Given the description of an element on the screen output the (x, y) to click on. 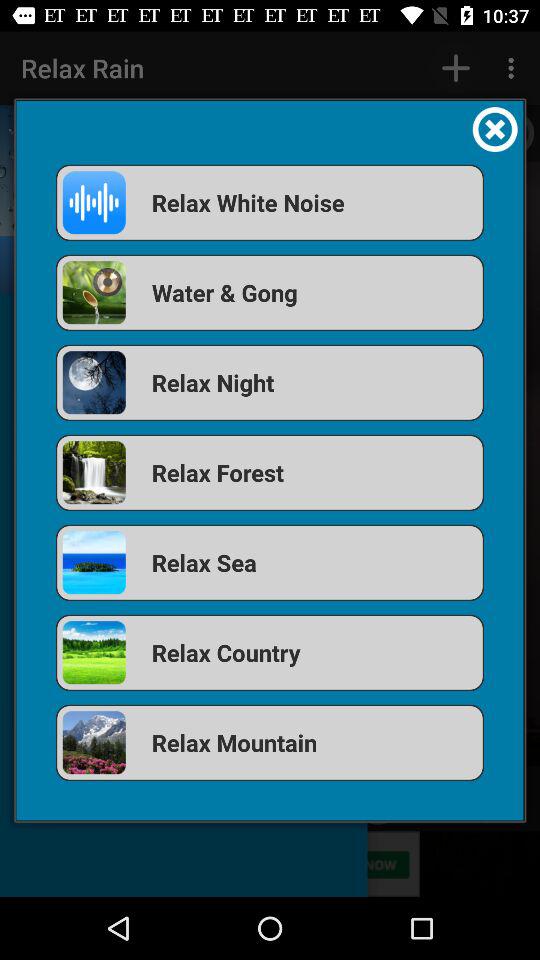
flip to water & gong icon (269, 292)
